Given the description of an element on the screen output the (x, y) to click on. 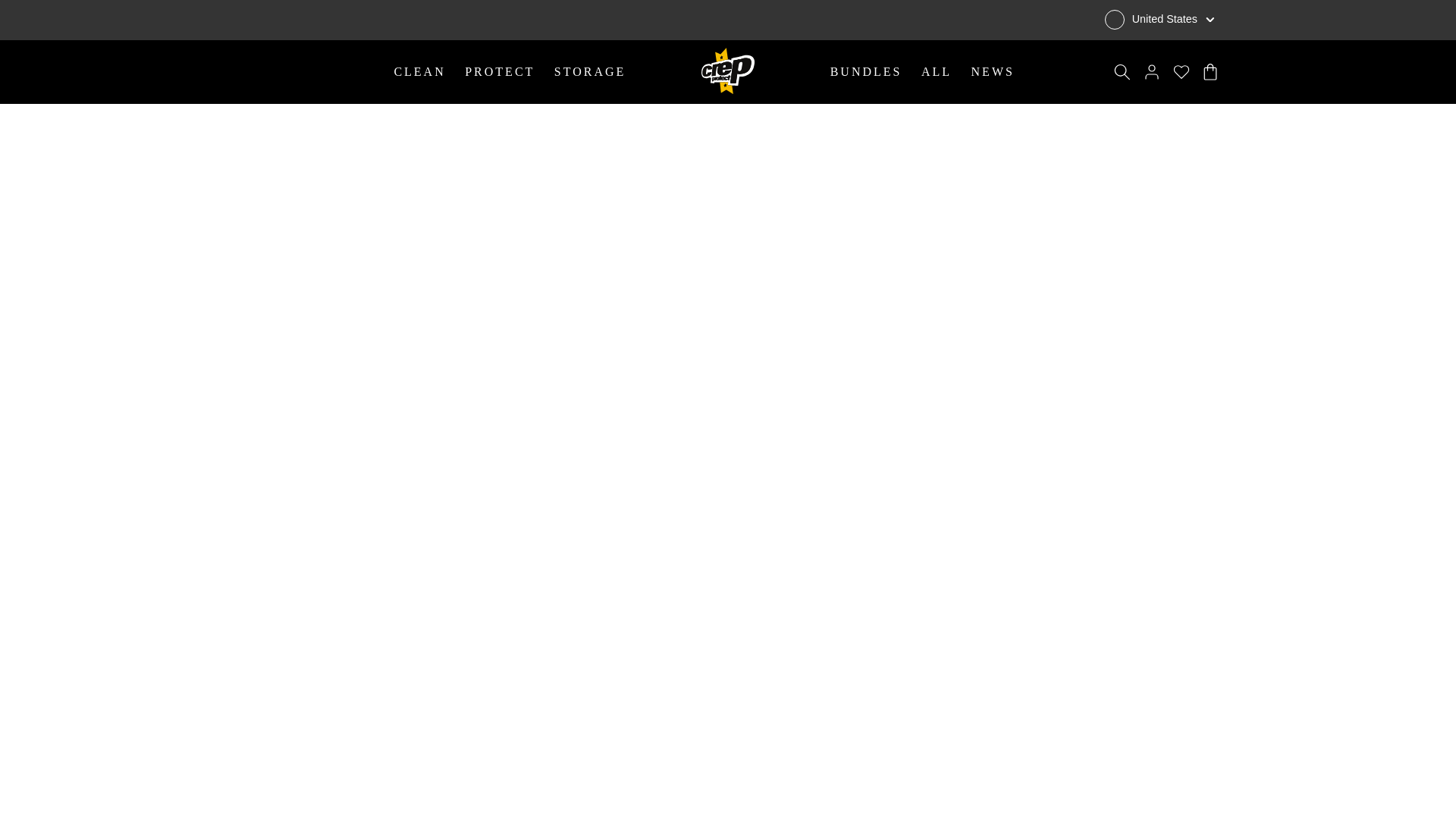
STORAGE (589, 71)
Skip to content (10, 7)
NEWS (992, 71)
CLEAN (422, 71)
BUNDLES (869, 71)
PROTECT (503, 71)
ALL (940, 71)
